Given the description of an element on the screen output the (x, y) to click on. 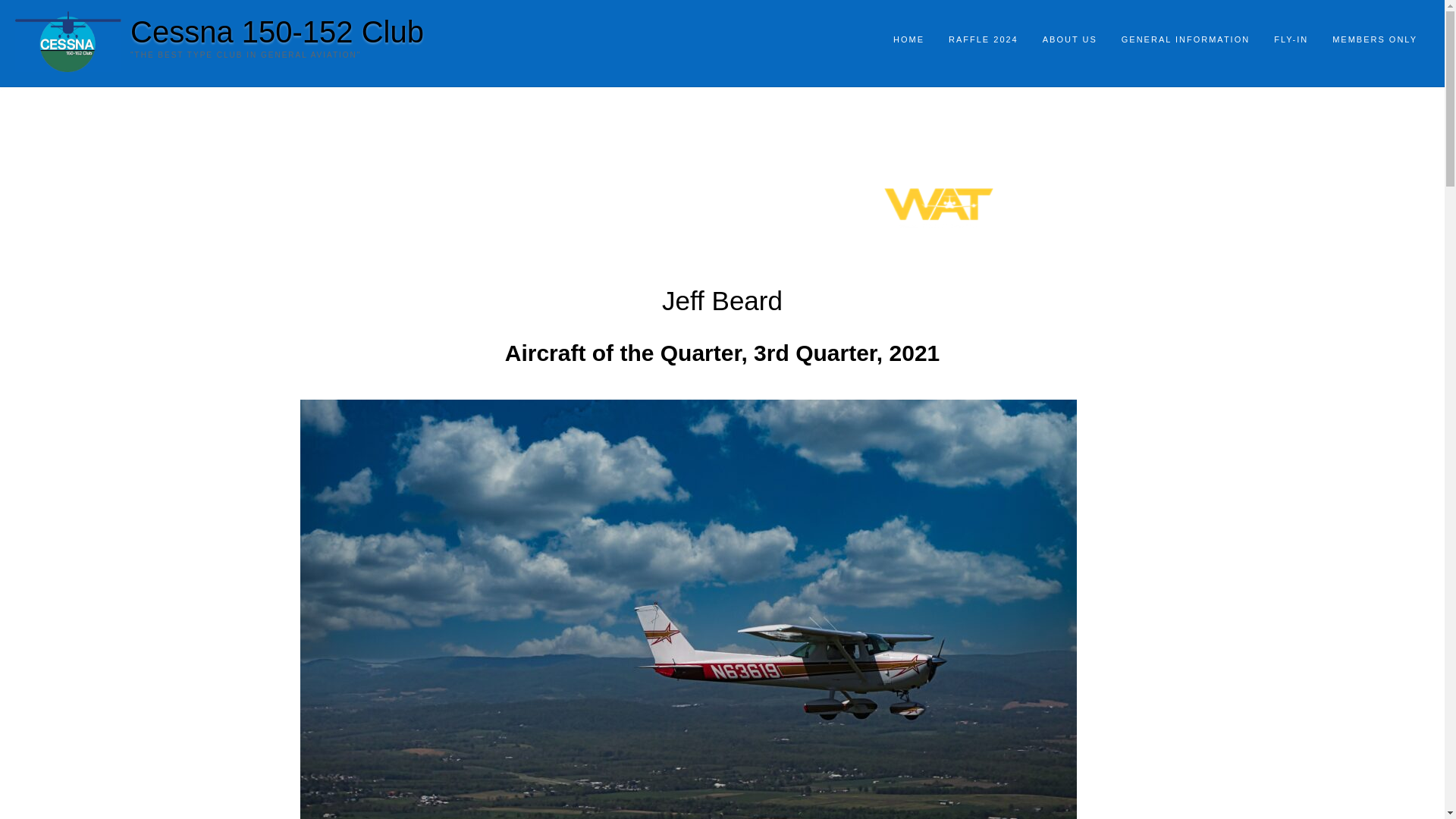
ABOUT US (1069, 40)
Cessna 150-152 Club (277, 31)
Cessna 150-152 Club (277, 31)
RAFFLE 2024 (983, 40)
GENERAL INFORMATION (1185, 40)
